Given the description of an element on the screen output the (x, y) to click on. 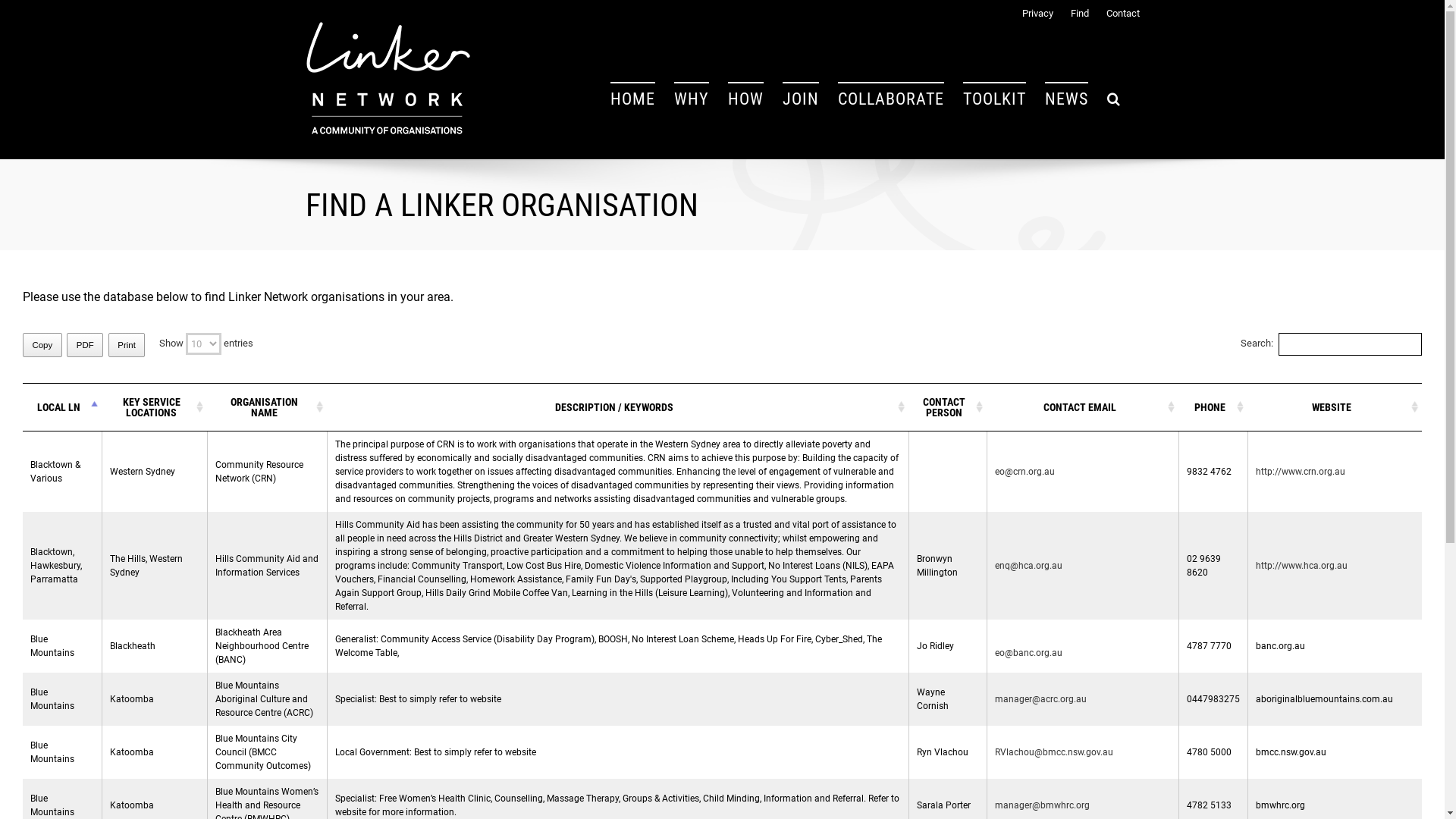
manager@acrc.org.au Element type: text (1040, 698)
Contact Element type: text (1113, 10)
COLLABORATE Element type: text (890, 98)
Find Element type: text (1071, 10)
PDF Element type: text (84, 344)
HOW Element type: text (745, 98)
enq@hca.org.au Element type: text (1028, 565)
RVlachou@bmcc.nsw.gov.au Element type: text (1053, 751)
Copy Element type: text (42, 344)
manager@bmwhrc.org Element type: text (1041, 805)
JOIN Element type: text (800, 98)
eo@crn.org.au Element type: text (1024, 471)
eo@banc.org.au Element type: text (1028, 652)
TOOLKIT Element type: text (994, 98)
http://www.crn.org.au Element type: text (1300, 471)
WHY Element type: text (690, 98)
Print Element type: text (126, 344)
http://www.hca.org.au Element type: text (1301, 565)
Privacy Element type: text (1029, 10)
HOME Element type: text (631, 98)
NEWS Element type: text (1066, 98)
Search Element type: hover (1113, 98)
